Given the description of an element on the screen output the (x, y) to click on. 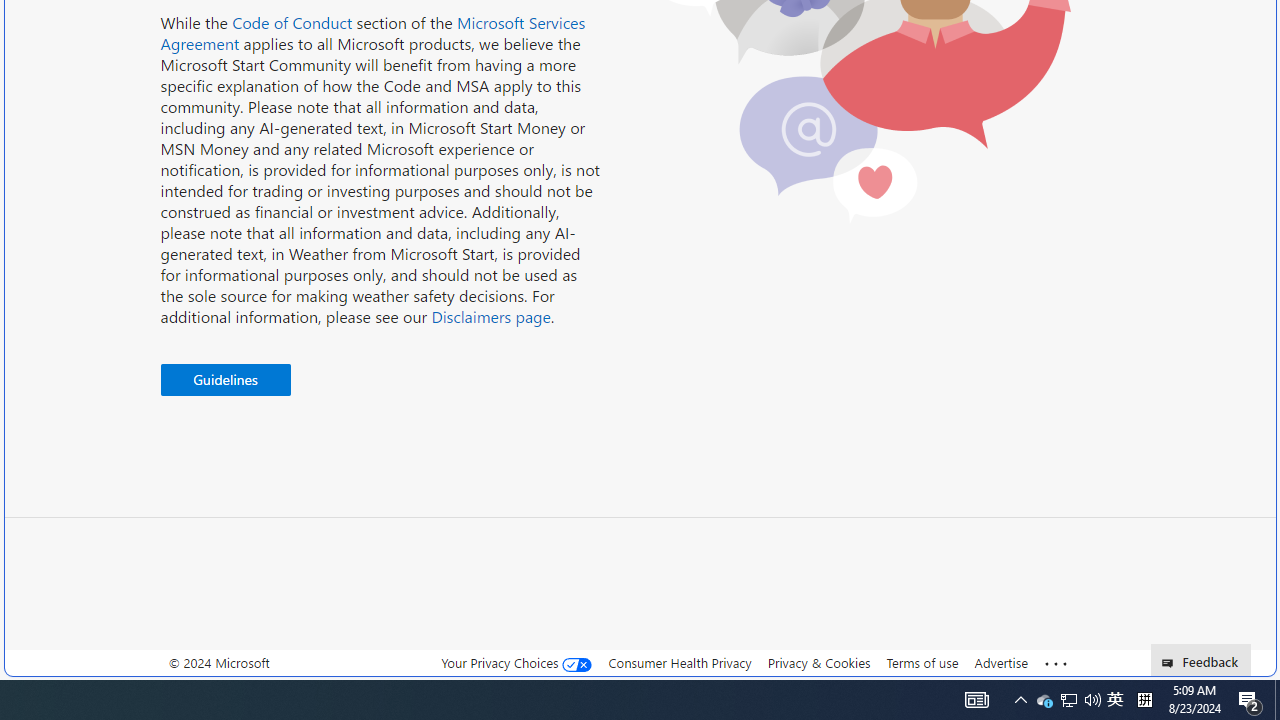
See more (1055, 664)
Disclaimers page (490, 316)
Feedback (1200, 659)
Code of Conduct (292, 22)
Class: oneFooter_seeMore-DS-EntryPoint1-1 (1055, 663)
Consumer Health Privacy (680, 662)
Privacy & Cookies (818, 662)
Terms of use (921, 663)
Your Privacy Choices (516, 663)
Advertise (1000, 663)
Terms of use (921, 662)
Advertise (1000, 662)
Consumer Health Privacy (680, 663)
Class: feedback_link_icon-DS-EntryPoint1-1 (1170, 663)
